Given the description of an element on the screen output the (x, y) to click on. 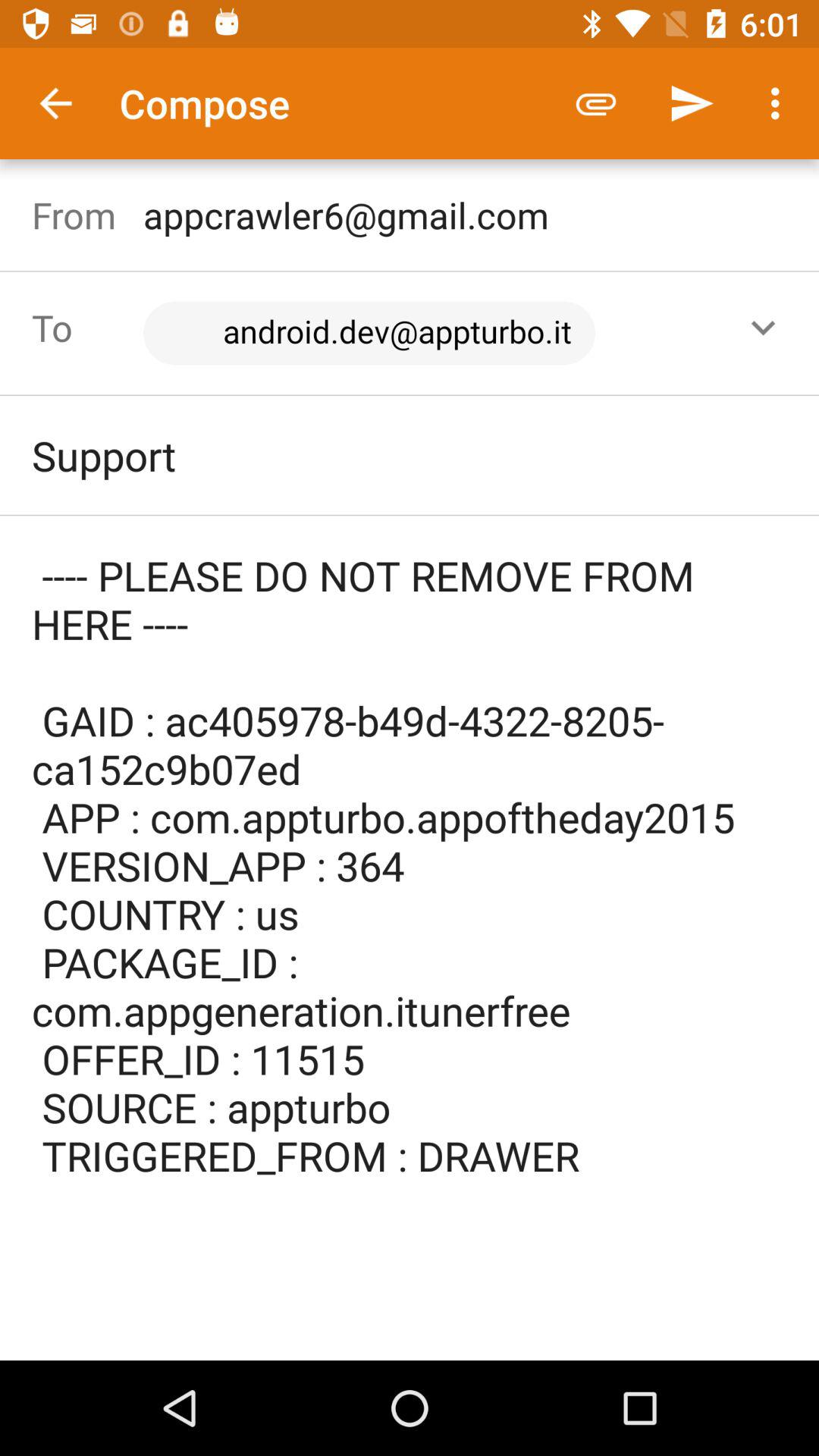
press item next to compose (55, 103)
